Given the description of an element on the screen output the (x, y) to click on. 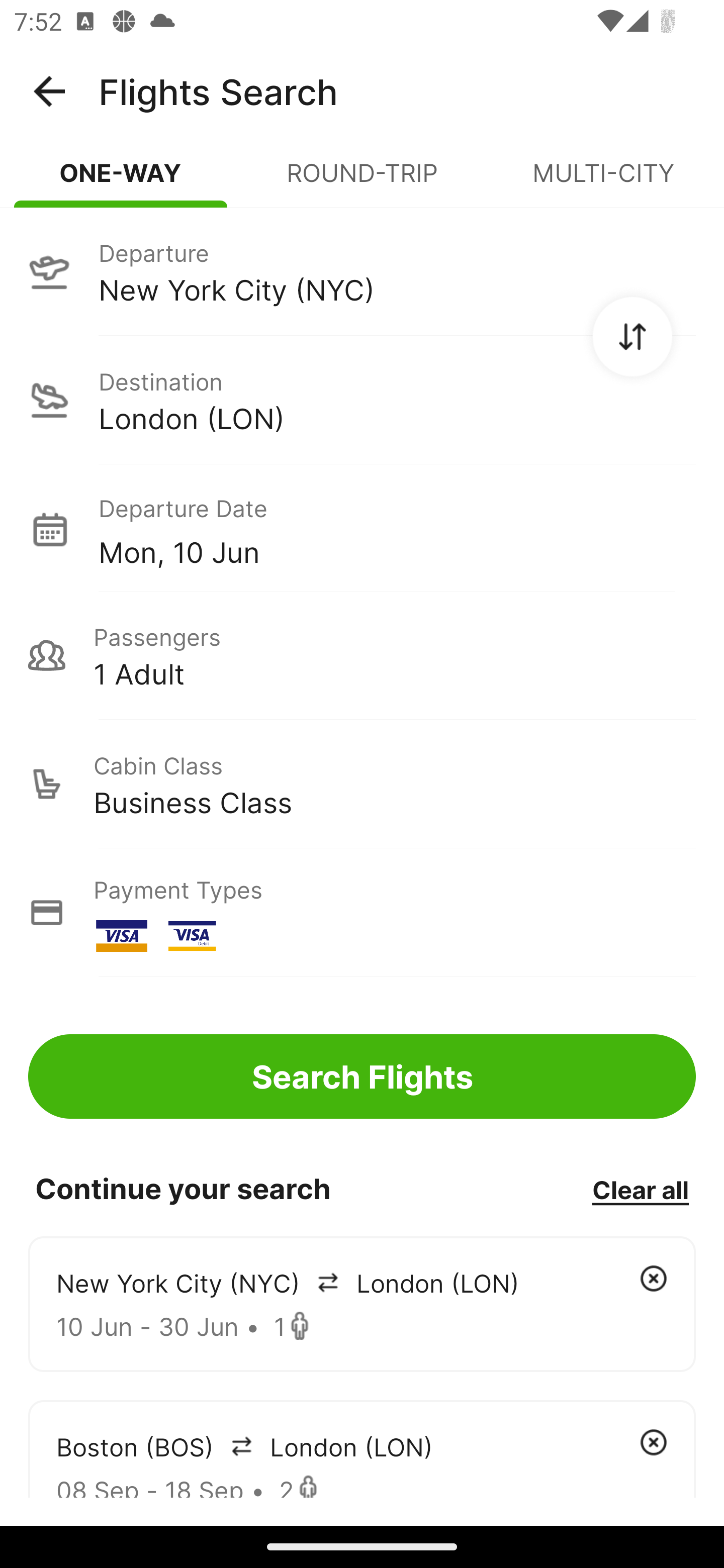
ONE-WAY (120, 180)
ROUND-TRIP (361, 180)
MULTI-CITY (603, 180)
Departure New York City (NYC) (362, 270)
Destination London (LON) (362, 400)
Departure Date Mon, 10 Jun (396, 528)
Passengers 1 Adult (362, 655)
Cabin Class Business Class (362, 783)
Payment Types (362, 912)
Search Flights (361, 1075)
Clear all (640, 1189)
